Given the description of an element on the screen output the (x, y) to click on. 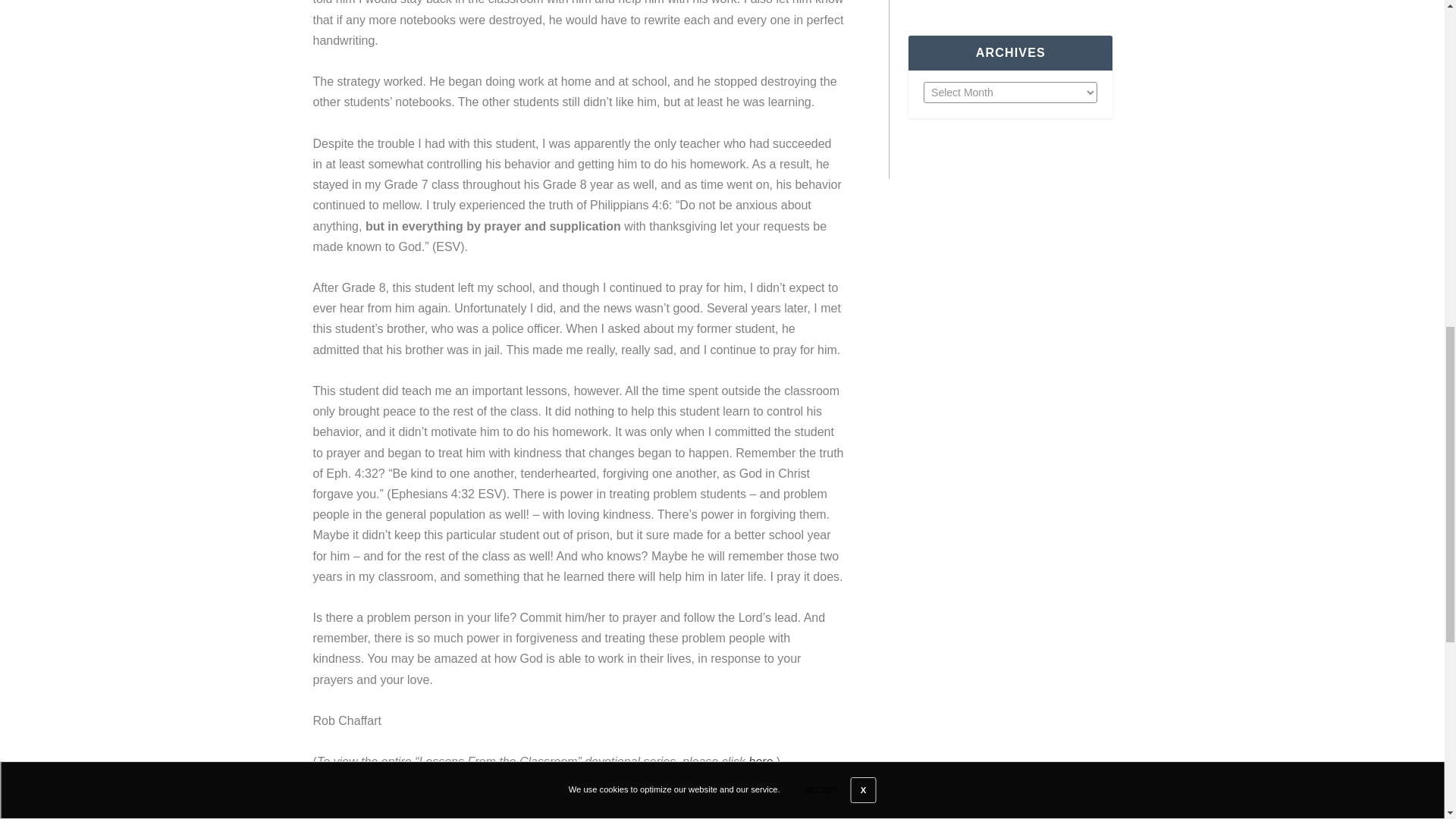
here (760, 761)
All Posts (577, 806)
